Given the description of an element on the screen output the (x, y) to click on. 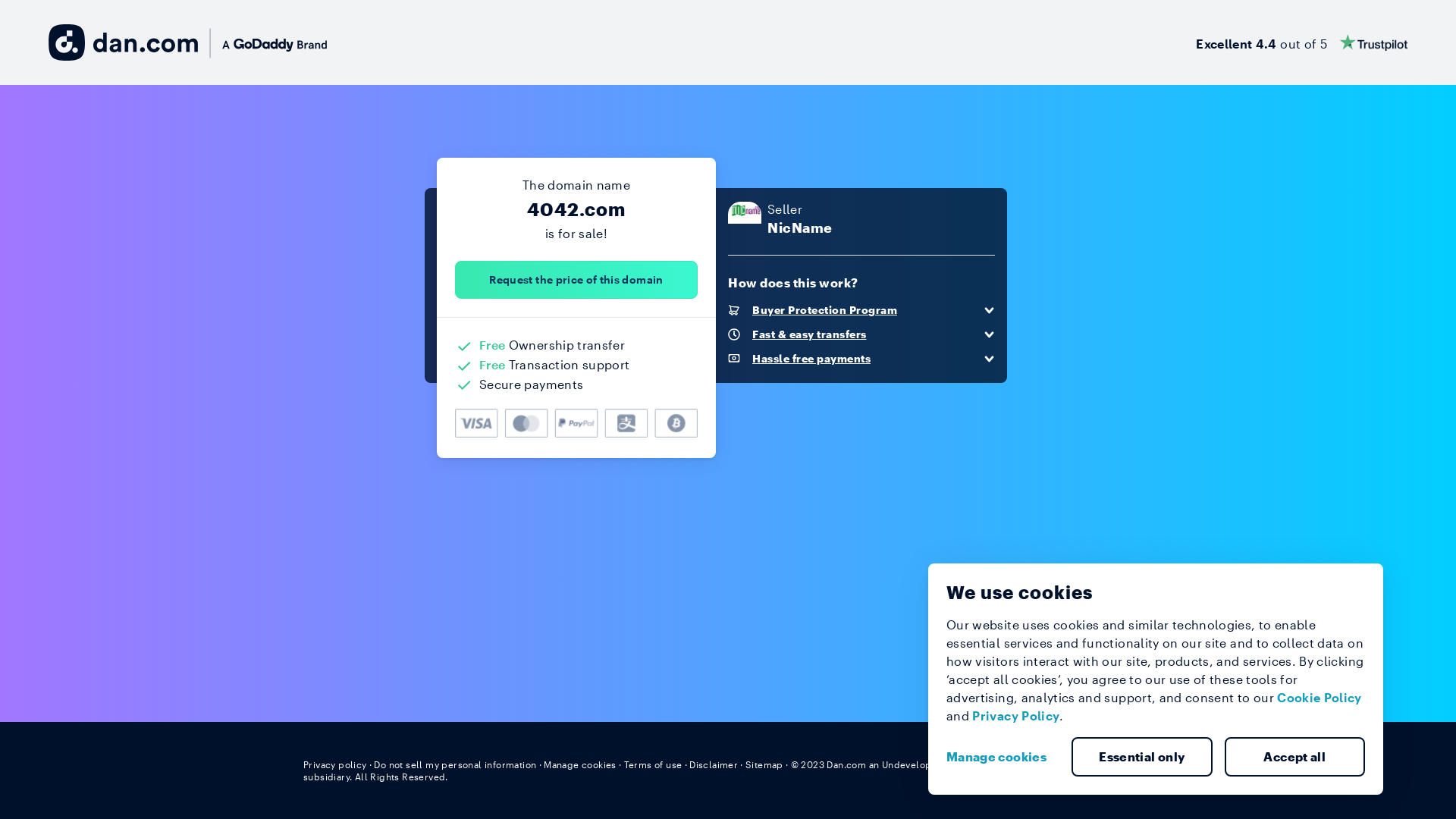
Cookie Policy Element type: text (1319, 697)
Privacy Policy Element type: text (1015, 715)
Request the price of this domain Element type: text (576, 279)
Manage cookies Element type: text (579, 764)
Disclaimer Element type: text (713, 764)
Do not sell my personal information Element type: text (454, 764)
English Element type: text (1124, 764)
Excellent 4.4 out of 5 Element type: text (1301, 42)
Privacy policy Element type: text (335, 764)
Sitemap Element type: text (764, 764)
Essential only Element type: text (1141, 756)
Accept all Element type: text (1294, 756)
Terms of use Element type: text (653, 764)
Manage cookies Element type: text (1002, 756)
